Given the description of an element on the screen output the (x, y) to click on. 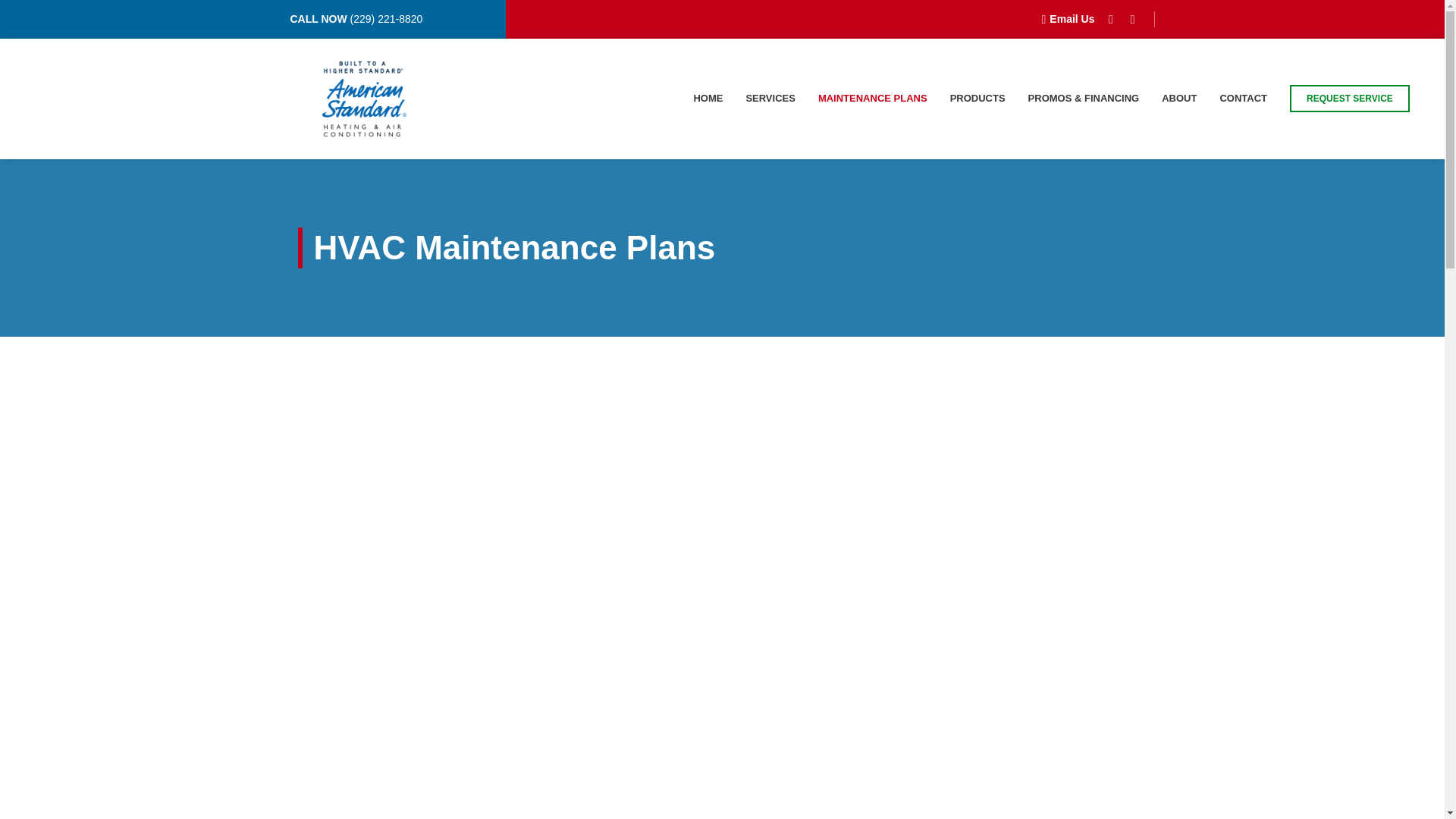
CONTACT (1243, 98)
SERVICES (769, 98)
Email Us (1062, 19)
REQUEST SERVICE (1349, 98)
MAINTENANCE PLANS (872, 98)
PRODUCTS (978, 98)
ABOUT (1178, 98)
